Given the description of an element on the screen output the (x, y) to click on. 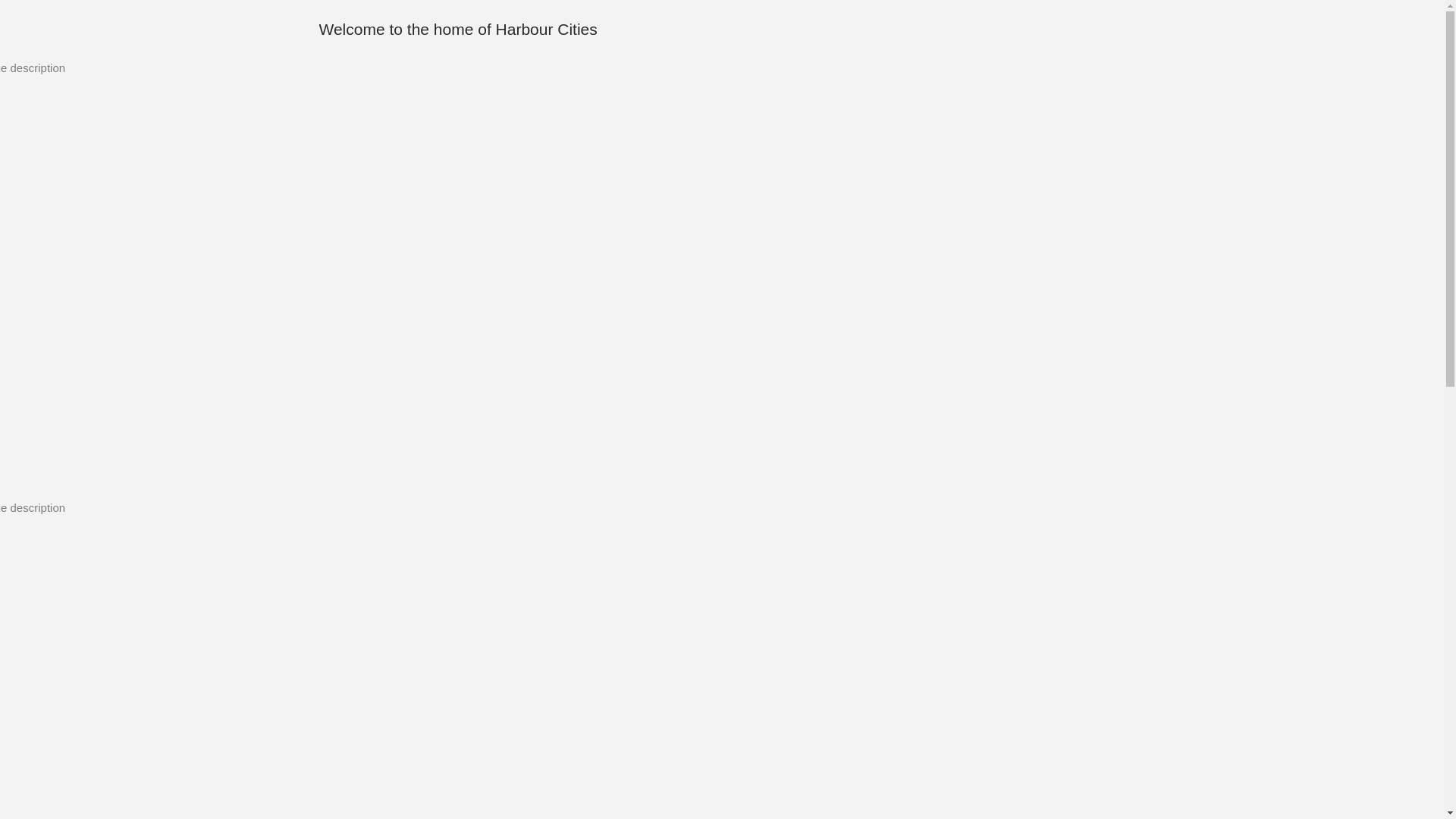
HARBOUR CITIES YOUR WASTE. YOUR FEATURE. Element type: text (440, 692)
Remondis Element type: text (1058, 29)
